Given the description of an element on the screen output the (x, y) to click on. 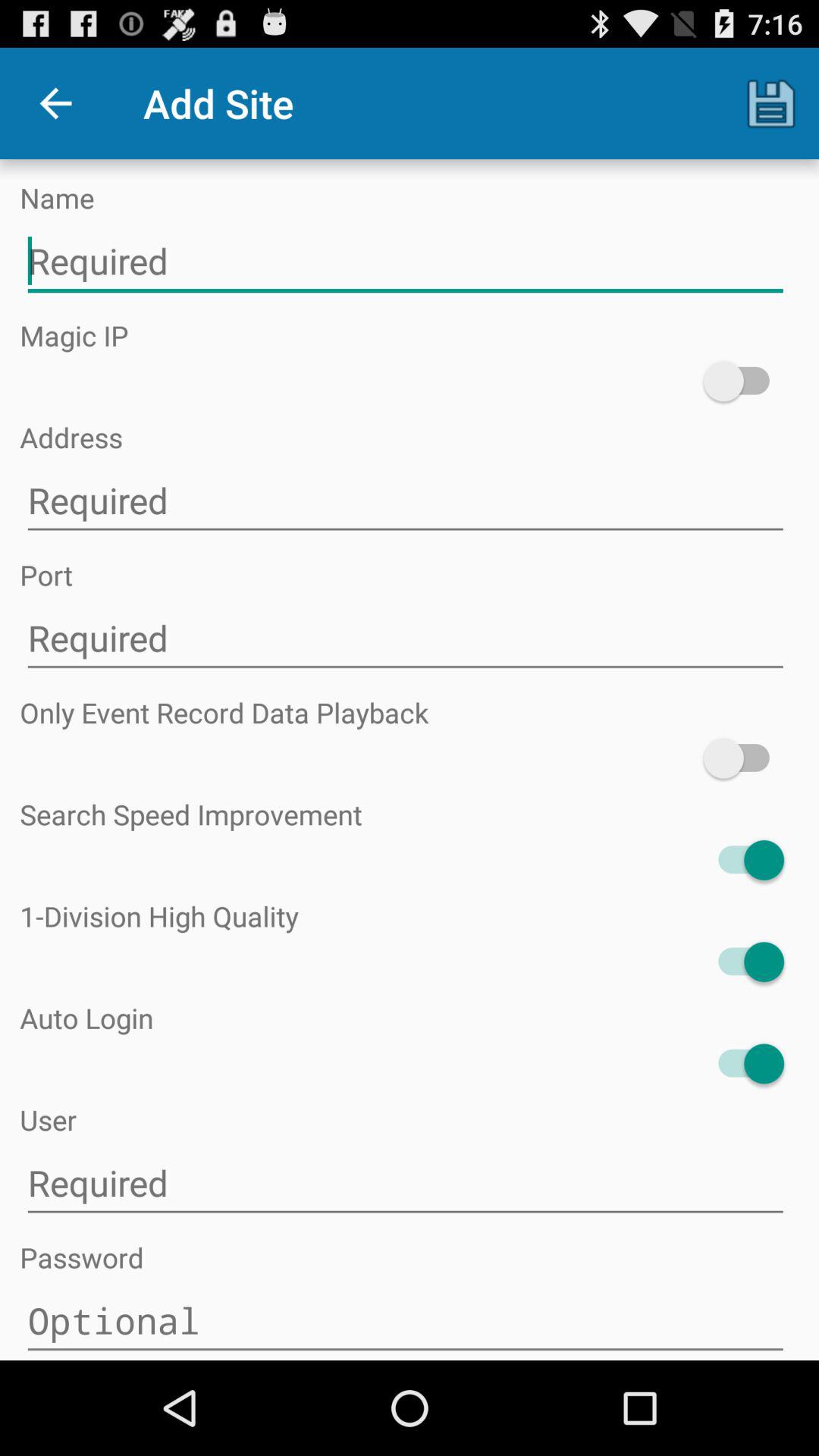
enter username (405, 1183)
